Given the description of an element on the screen output the (x, y) to click on. 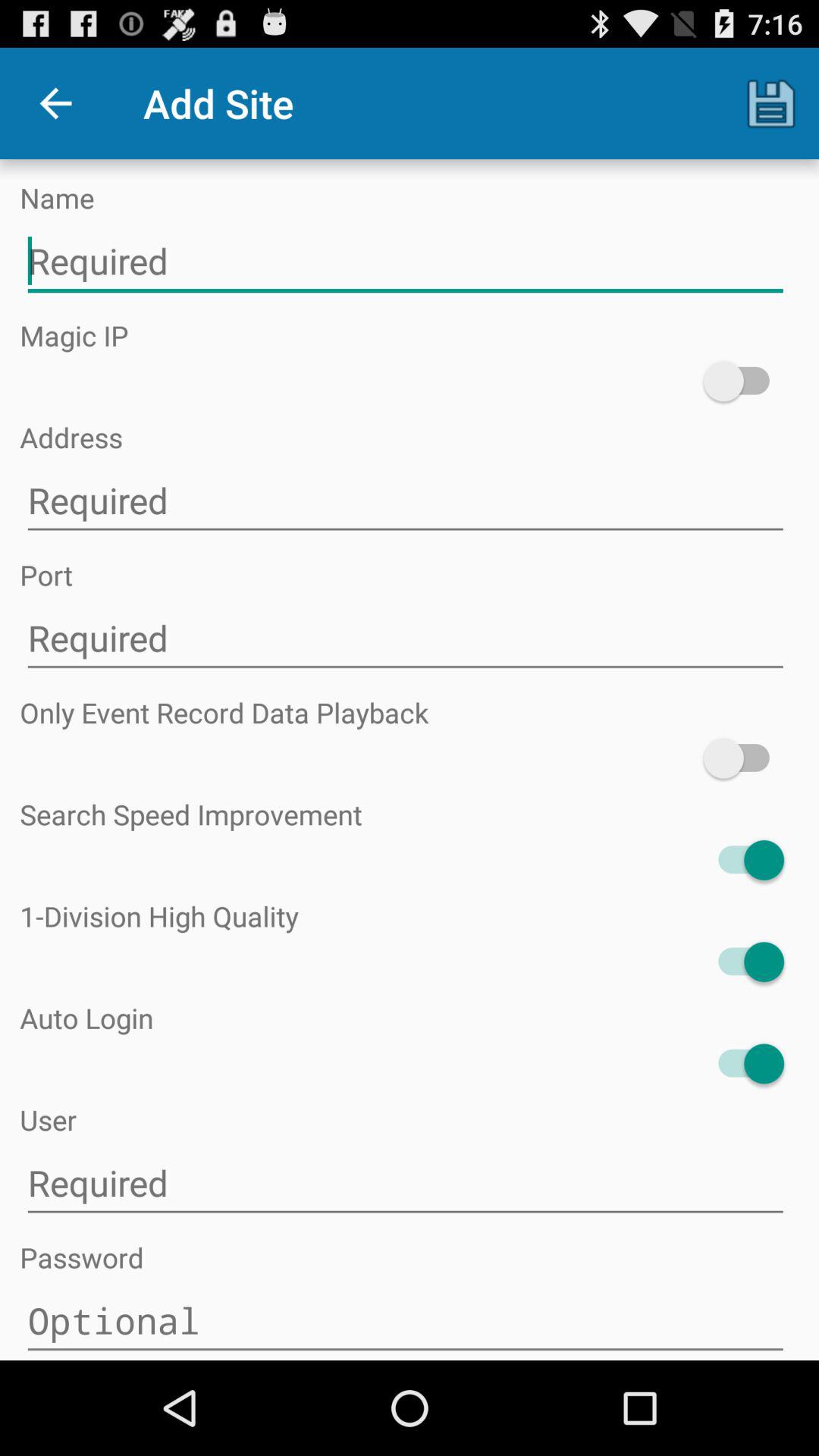
enter username (405, 1183)
